Given the description of an element on the screen output the (x, y) to click on. 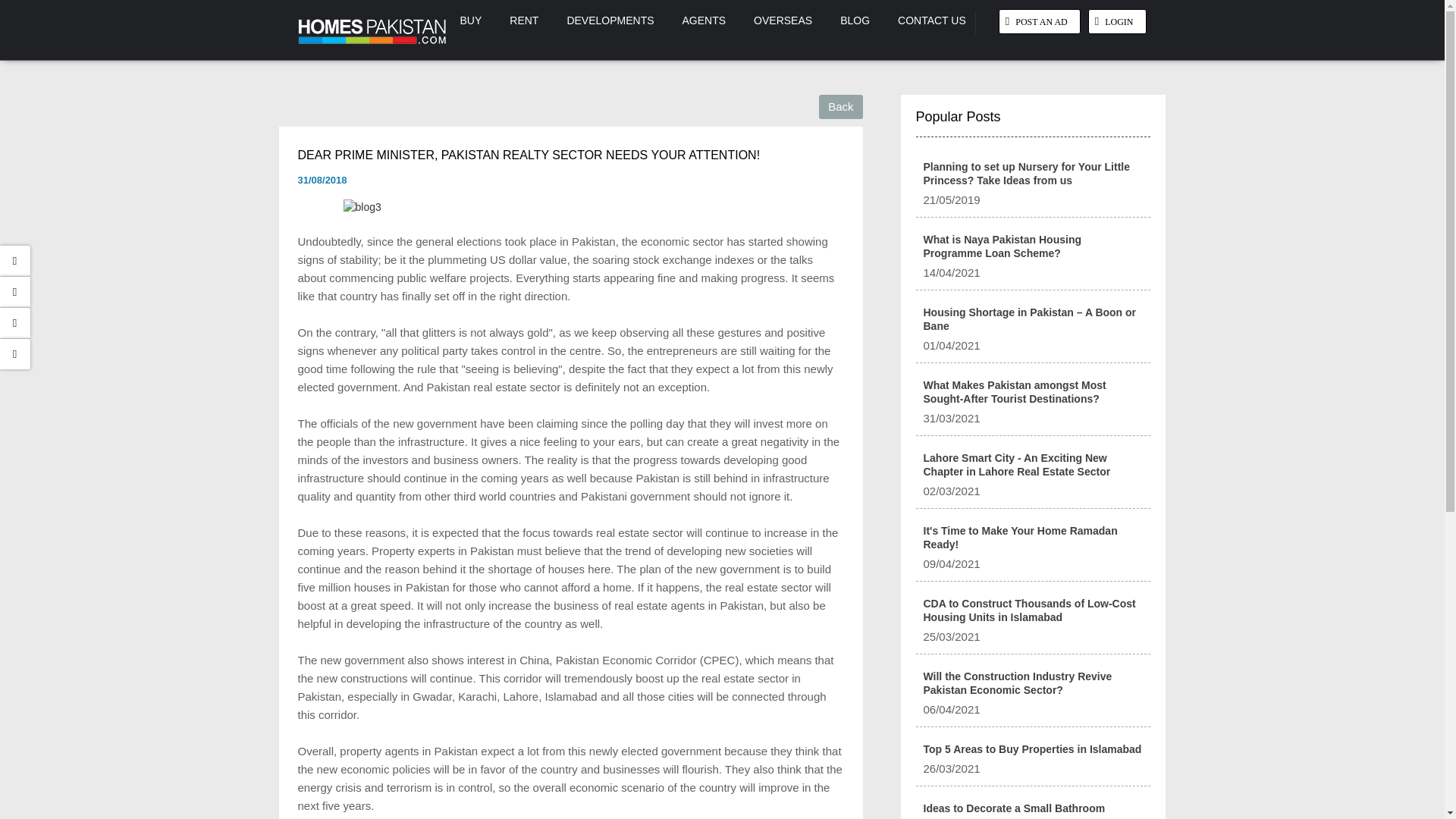
RENT (523, 20)
HomesPakistan.com - Pakistan Best Property Portal (371, 29)
Gplus (15, 354)
DEVELOPMENTS (609, 20)
Twitter (15, 291)
Facebook (15, 260)
BUY (470, 20)
Instagram (15, 322)
